Given the description of an element on the screen output the (x, y) to click on. 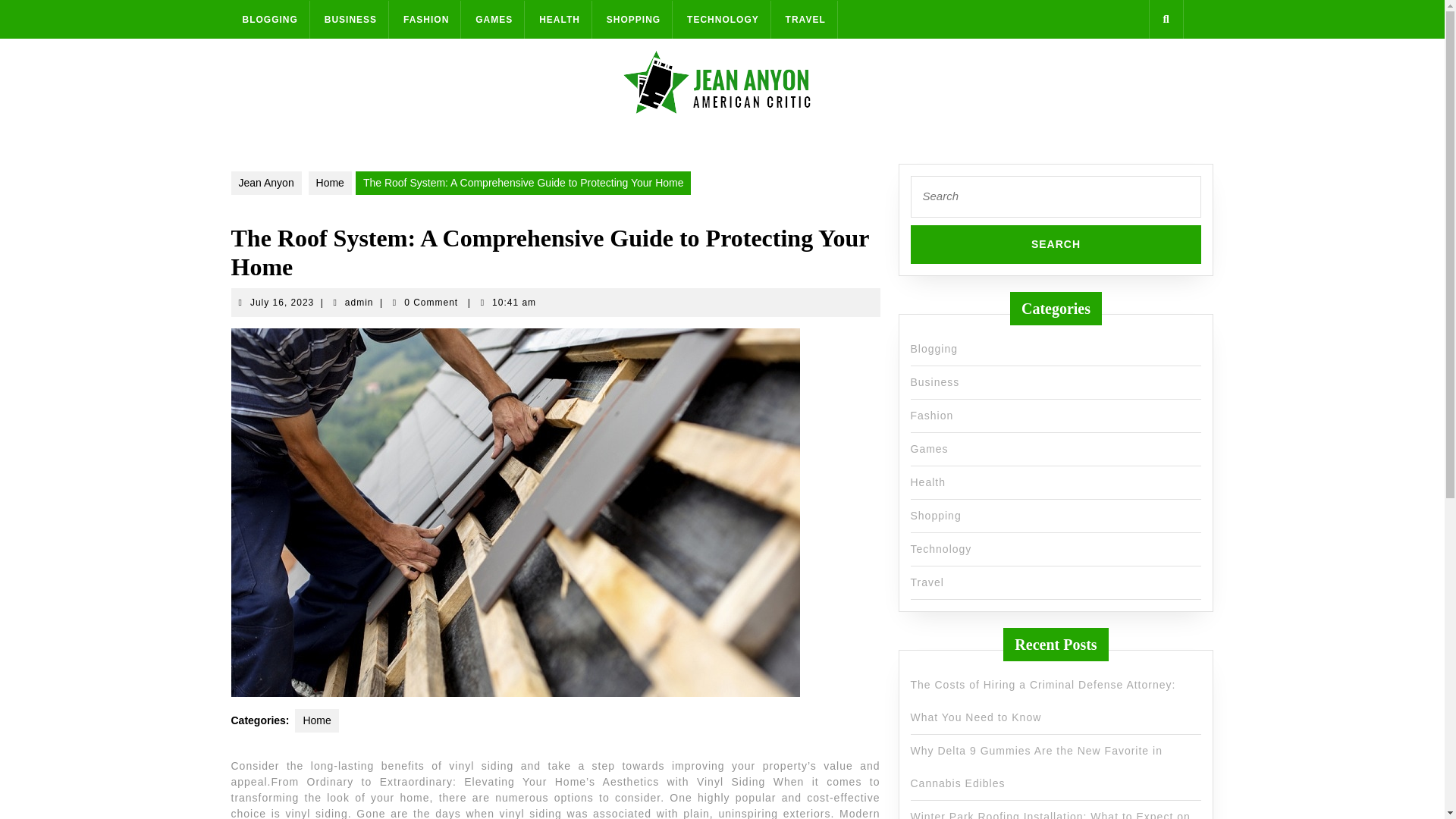
Business (934, 381)
Health (359, 302)
Blogging (927, 481)
GAMES (934, 348)
BLOGGING (494, 18)
Shopping (269, 18)
Technology (935, 515)
Travel (940, 548)
BUSINESS (926, 582)
HEALTH (350, 18)
FASHION (282, 302)
